Given the description of an element on the screen output the (x, y) to click on. 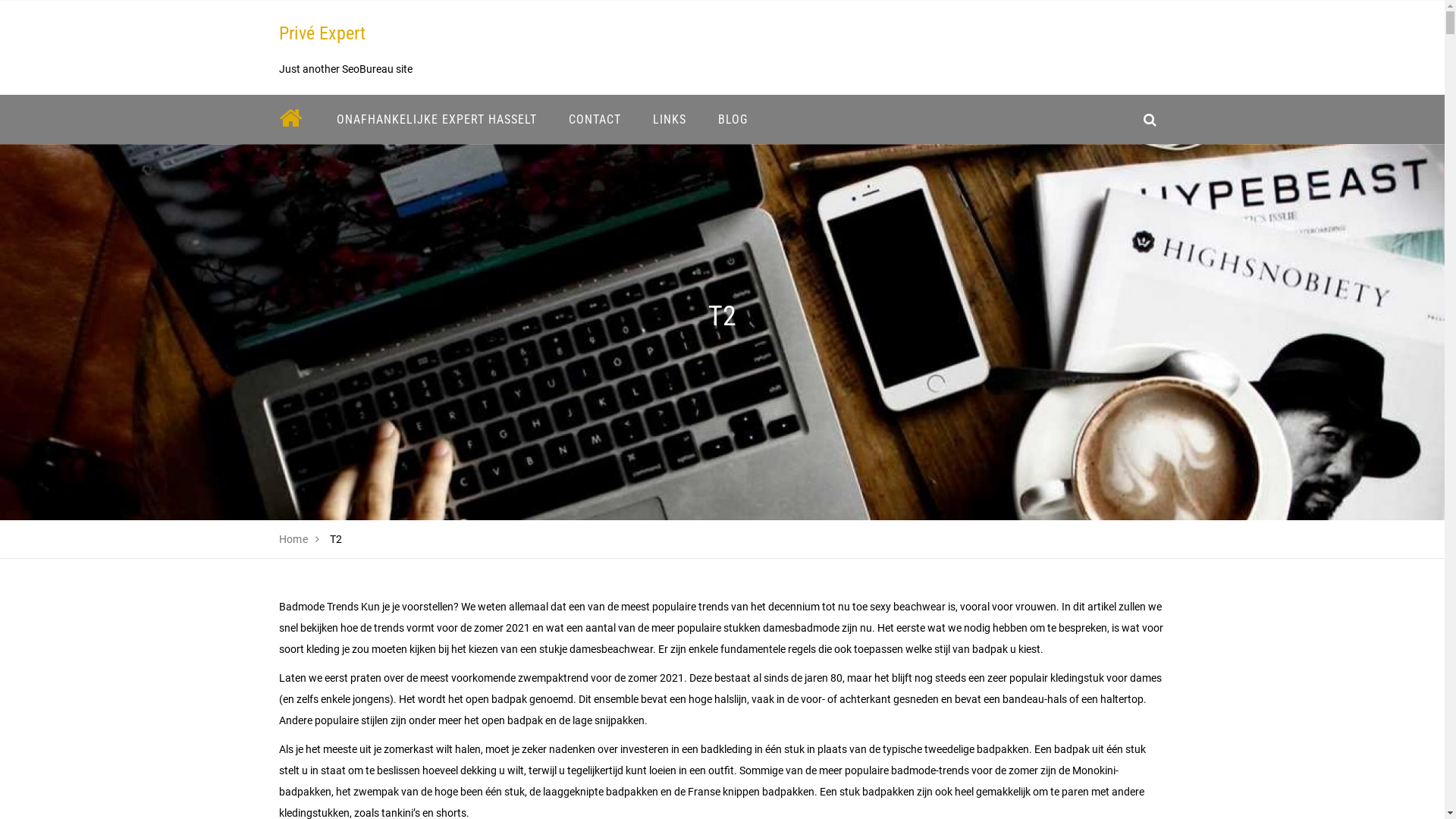
search_icon Element type: hover (1148, 119)
BLOG Element type: text (732, 119)
Home Element type: text (293, 539)
CONTACT Element type: text (594, 119)
LINKS Element type: text (669, 119)
ONAFHANKELIJKE EXPERT HASSELT Element type: text (436, 119)
